Given the description of an element on the screen output the (x, y) to click on. 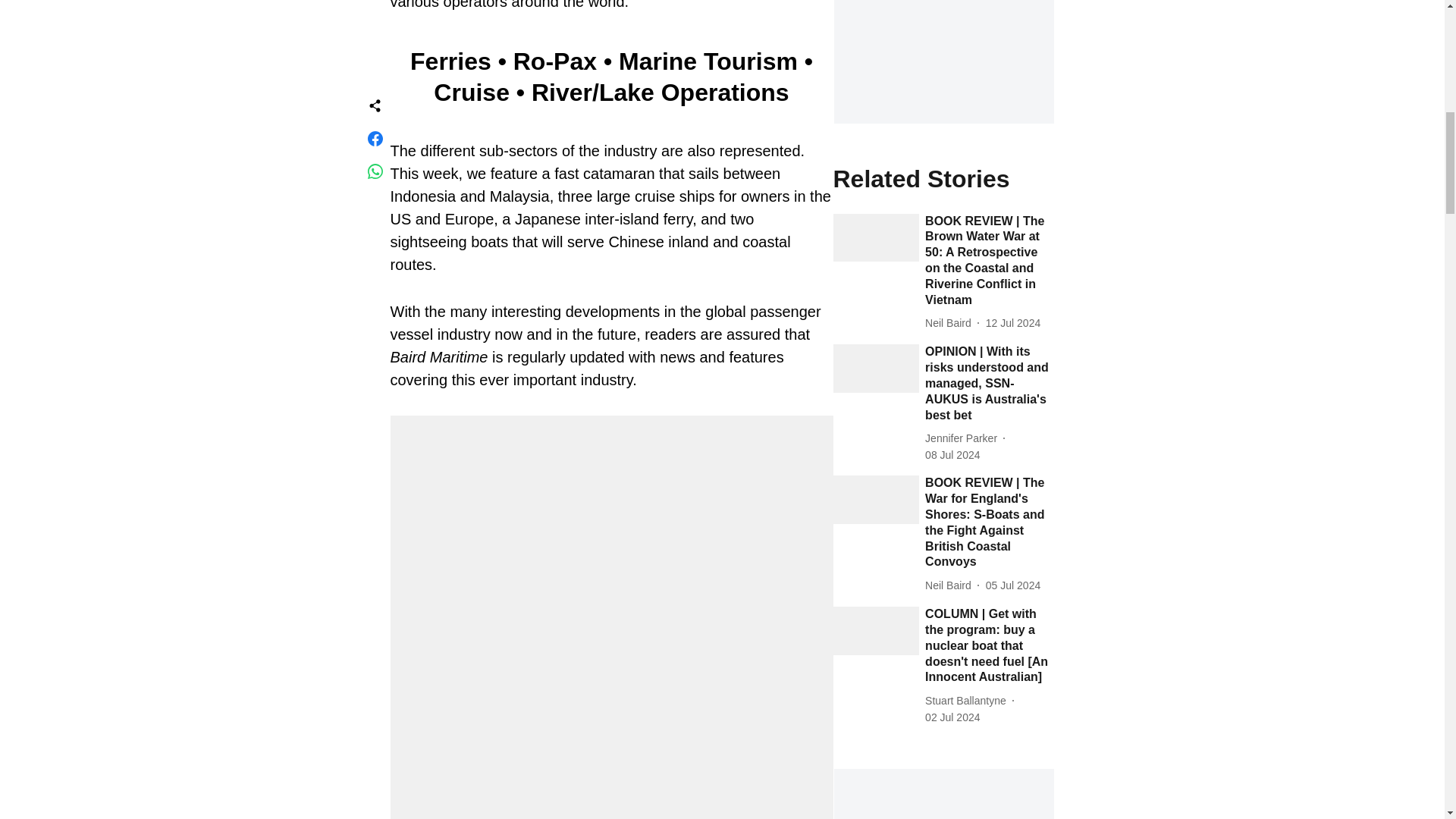
2024-07-12 07:37 (1013, 323)
2024-07-02 02:08 (951, 717)
2024-07-08 11:05 (951, 455)
2024-07-05 08:18 (1013, 585)
